Given the description of an element on the screen output the (x, y) to click on. 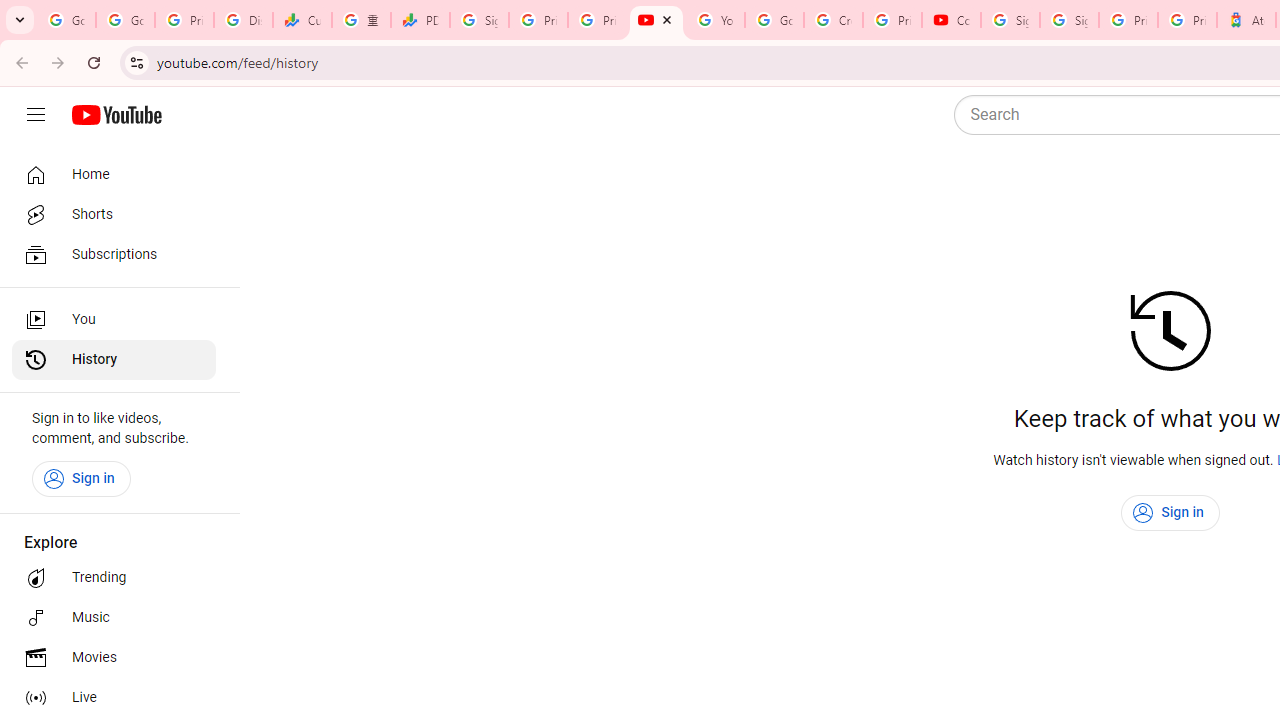
YouTube Home (116, 115)
Create your Google Account (832, 20)
History (113, 359)
Google Workspace Admin Community (66, 20)
View site information (136, 62)
YouTube (656, 20)
Trending (113, 578)
Sign in - Google Accounts (1010, 20)
Guide (35, 115)
Subscriptions (113, 254)
YouTube (715, 20)
